Given the description of an element on the screen output the (x, y) to click on. 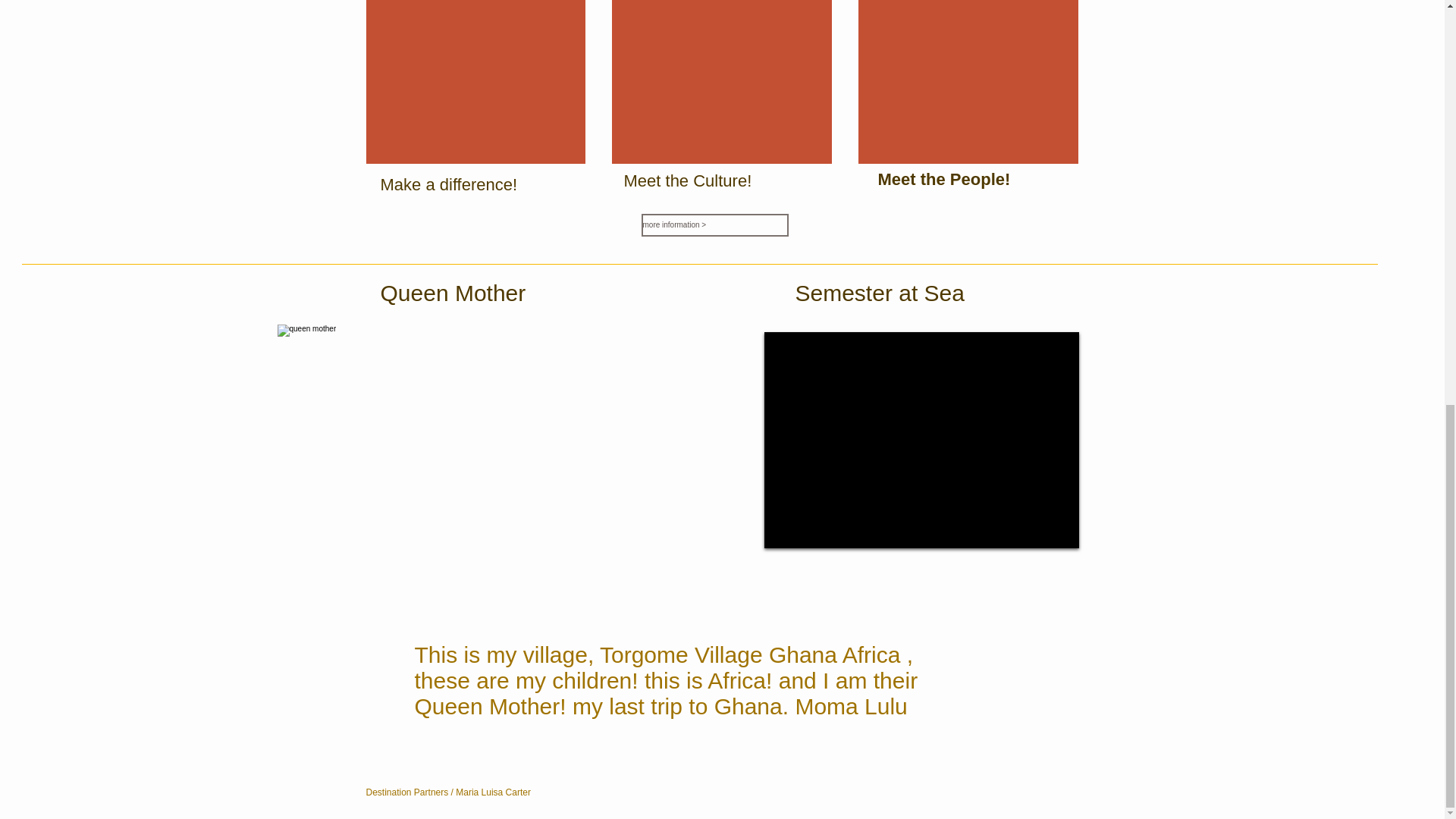
External YouTube (921, 439)
